Given the description of an element on the screen output the (x, y) to click on. 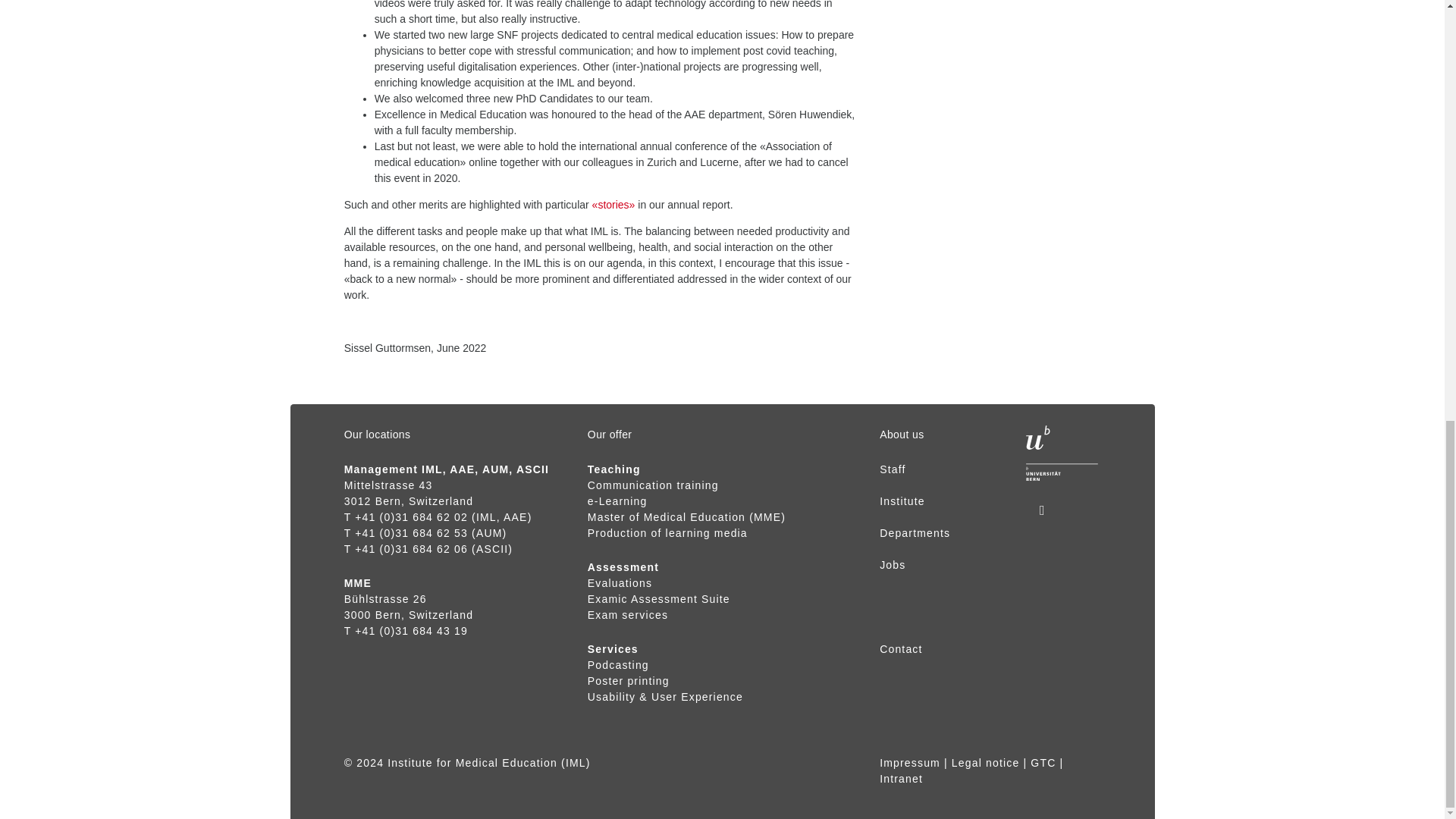
Podcasting (618, 664)
Evaluations (620, 582)
Poster printing (628, 680)
Staff (892, 469)
Jobs (892, 564)
Production of learning media (668, 532)
Institute (901, 500)
Examic Assessment Suite (659, 598)
Google Maps (384, 598)
Exam services (628, 614)
google maps (387, 485)
Communication training (653, 492)
Departments (914, 532)
